Given the description of an element on the screen output the (x, y) to click on. 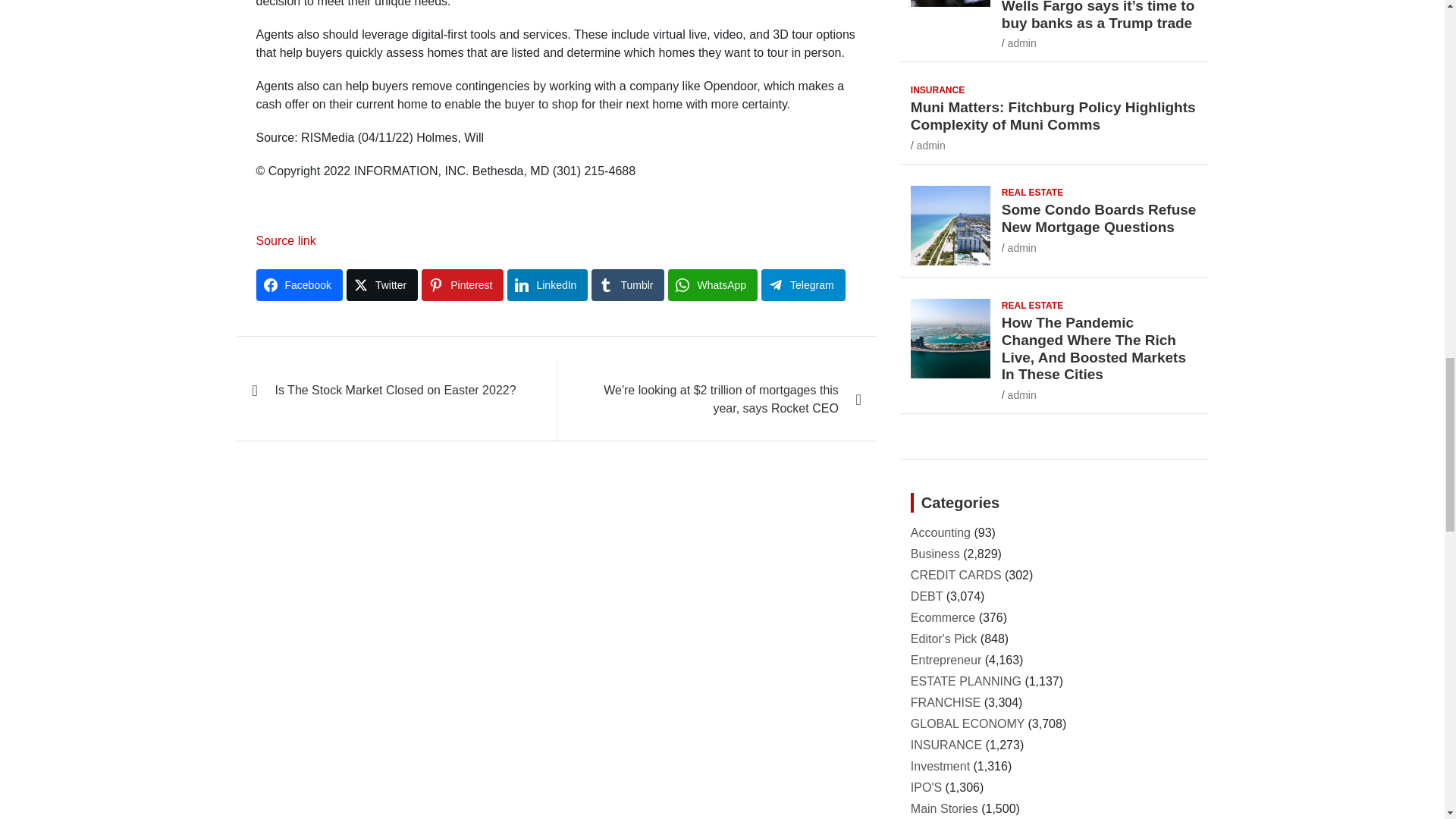
Share on Tumblr (627, 285)
Share on Facebook (299, 285)
Share on Twitter (381, 285)
Share on WhatsApp (712, 285)
Share on LinkedIn (547, 285)
Share on Pinterest (462, 285)
